Given the description of an element on the screen output the (x, y) to click on. 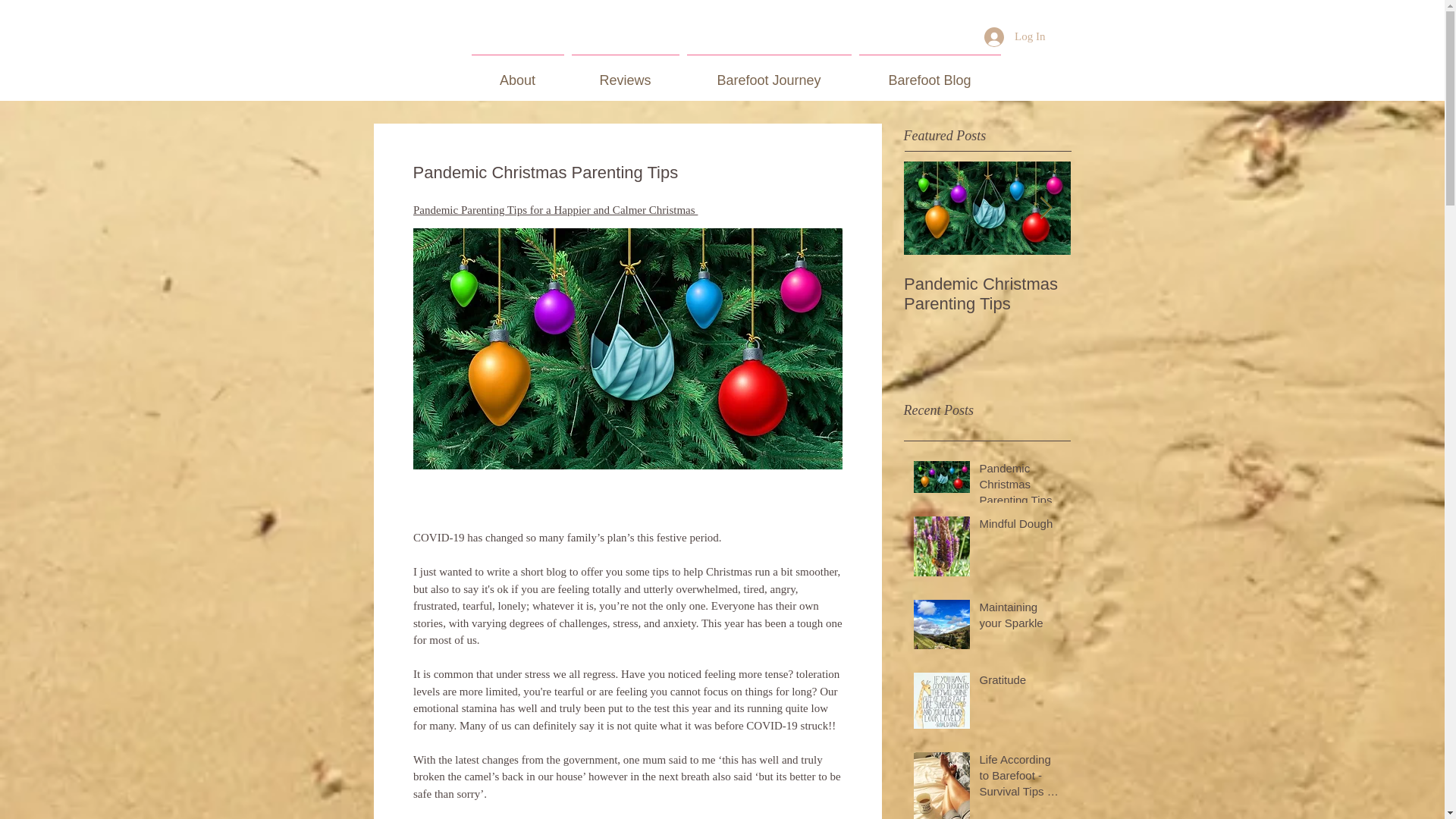
Maintaining your Sparkle (1020, 617)
Pandemic Christmas Parenting Tips (1020, 487)
Maintaining your Sparkle (1153, 293)
About (517, 73)
Reviews (624, 73)
Gratitude (1020, 682)
Log In (1014, 36)
Barefoot Journey (768, 73)
Pandemic Christmas Parenting Tips (987, 293)
Mindful Dough (1020, 526)
Barefoot Blog (930, 73)
